Given the description of an element on the screen output the (x, y) to click on. 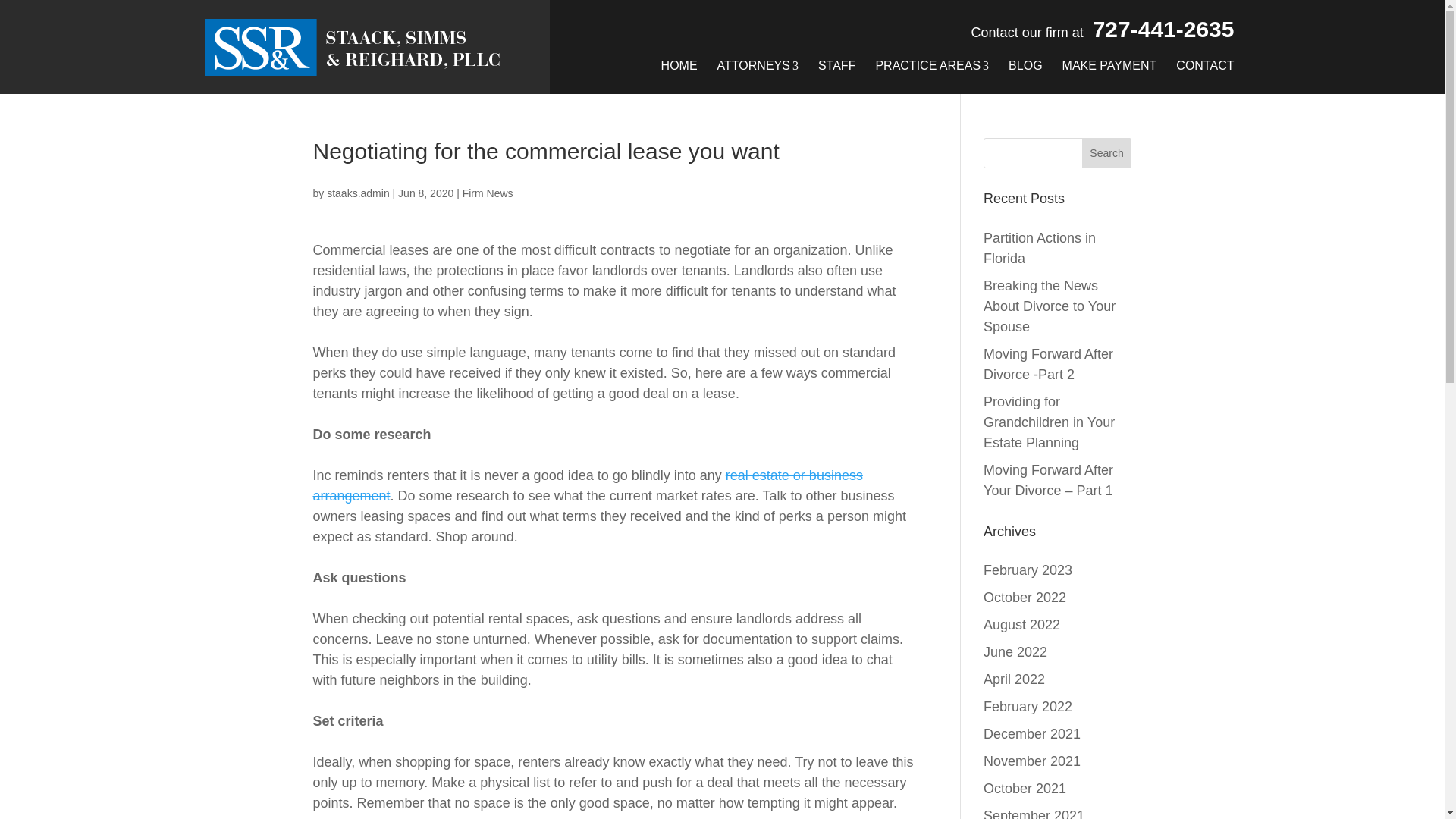
MAKE PAYMENT (1110, 65)
CONTACT (1205, 65)
BLOG (1025, 65)
STAFF (836, 65)
ATTORNEYS (758, 65)
Search (1106, 153)
HOME (679, 65)
727-441-2635 (1163, 28)
PRACTICE AREAS (931, 65)
Posts by staaks.admin (357, 193)
